Given the description of an element on the screen output the (x, y) to click on. 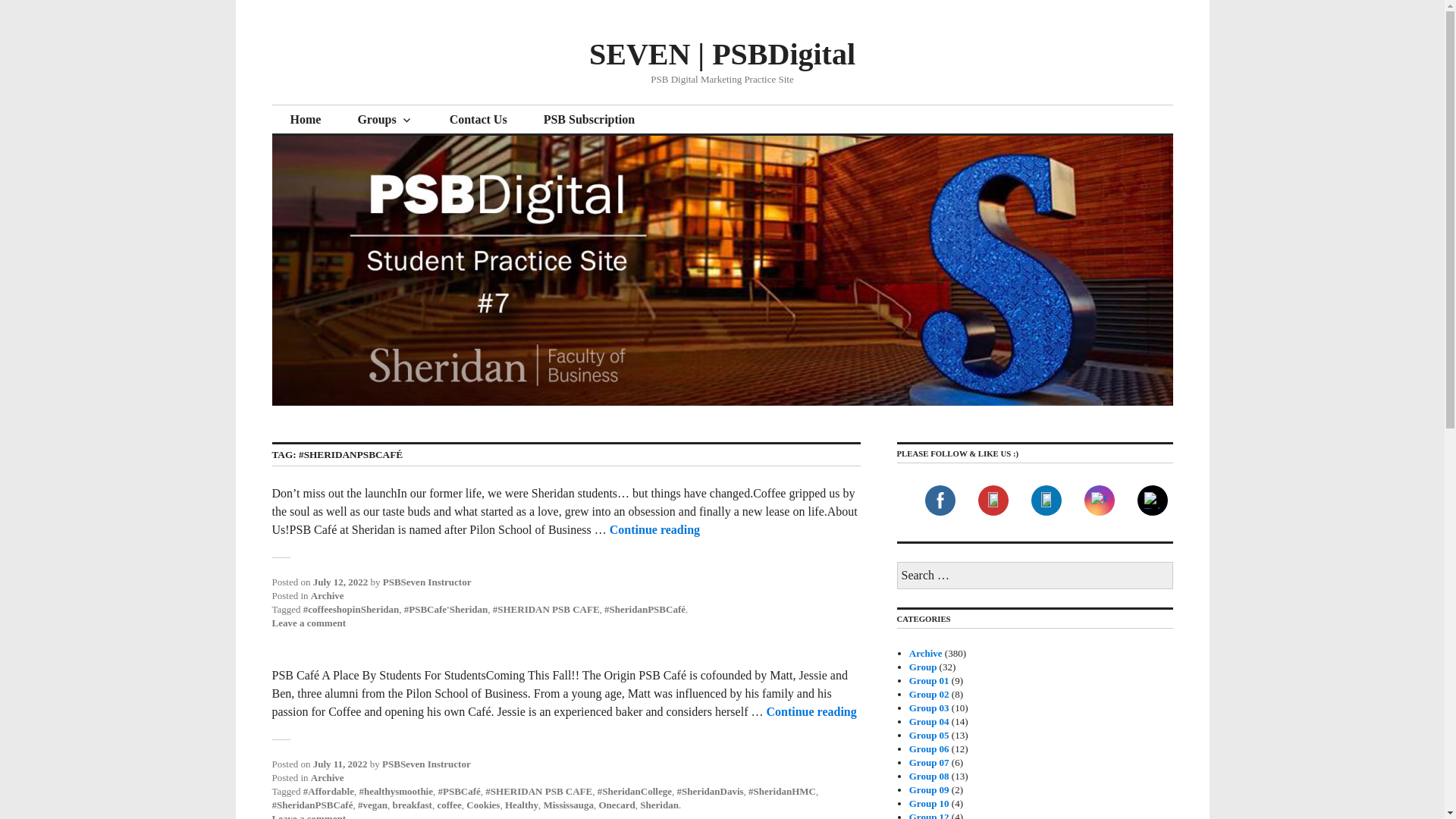
Archive (327, 777)
Twitter (1151, 500)
Home (304, 119)
Archive (327, 595)
PSBSeven Instructor (426, 582)
July 11, 2022 (340, 763)
Continue reading (810, 711)
Leave a comment (307, 622)
Groups (384, 119)
Continue reading (655, 529)
